Given the description of an element on the screen output the (x, y) to click on. 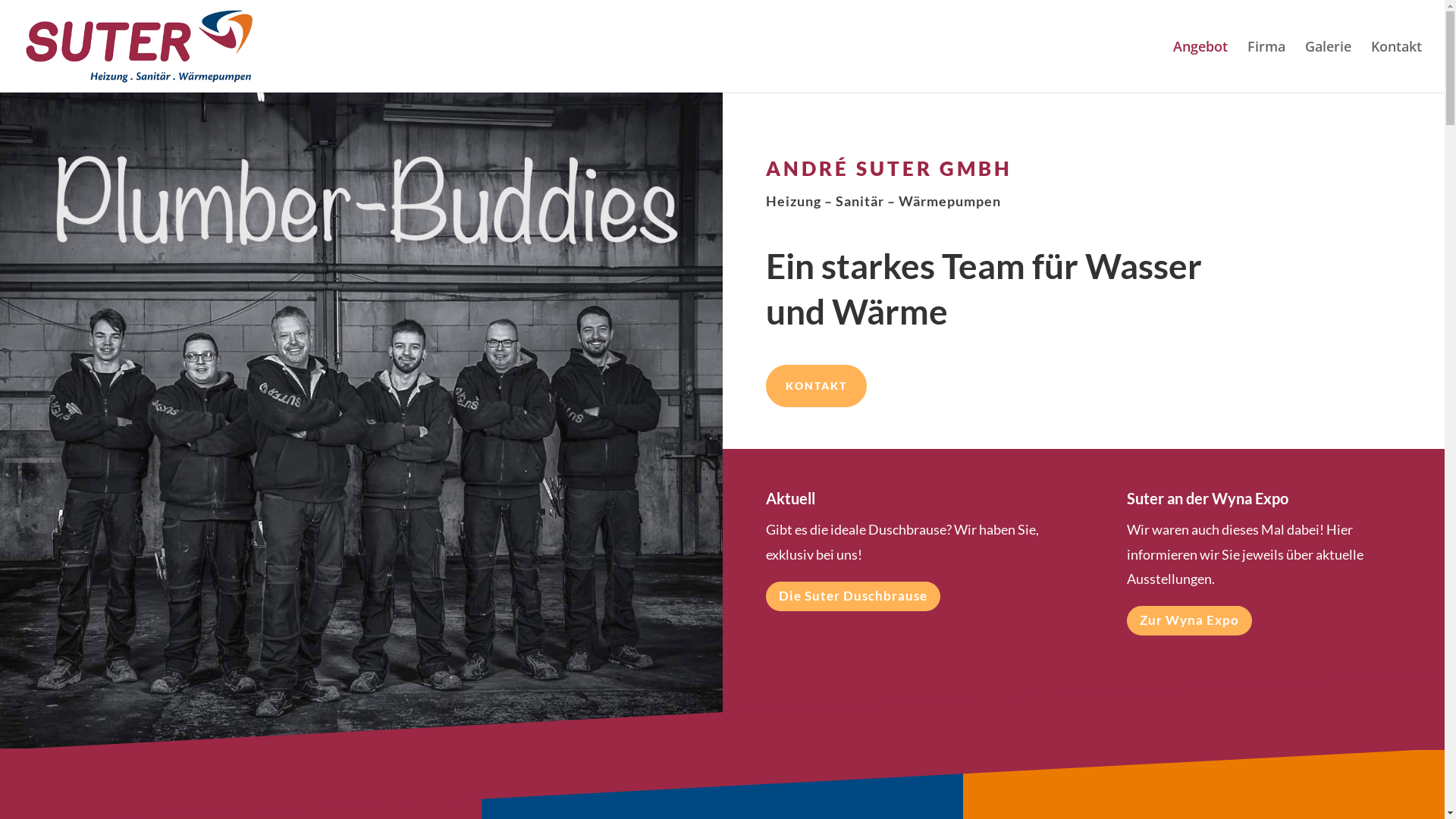
KONTAKT Element type: text (815, 385)
Galerie Element type: text (1328, 66)
Zur Wyna Expo Element type: text (1189, 620)
Die Suter Duschbrause Element type: text (852, 596)
Firma Element type: text (1266, 66)
Kontakt Element type: text (1396, 66)
Angebot Element type: text (1200, 66)
